Given the description of an element on the screen output the (x, y) to click on. 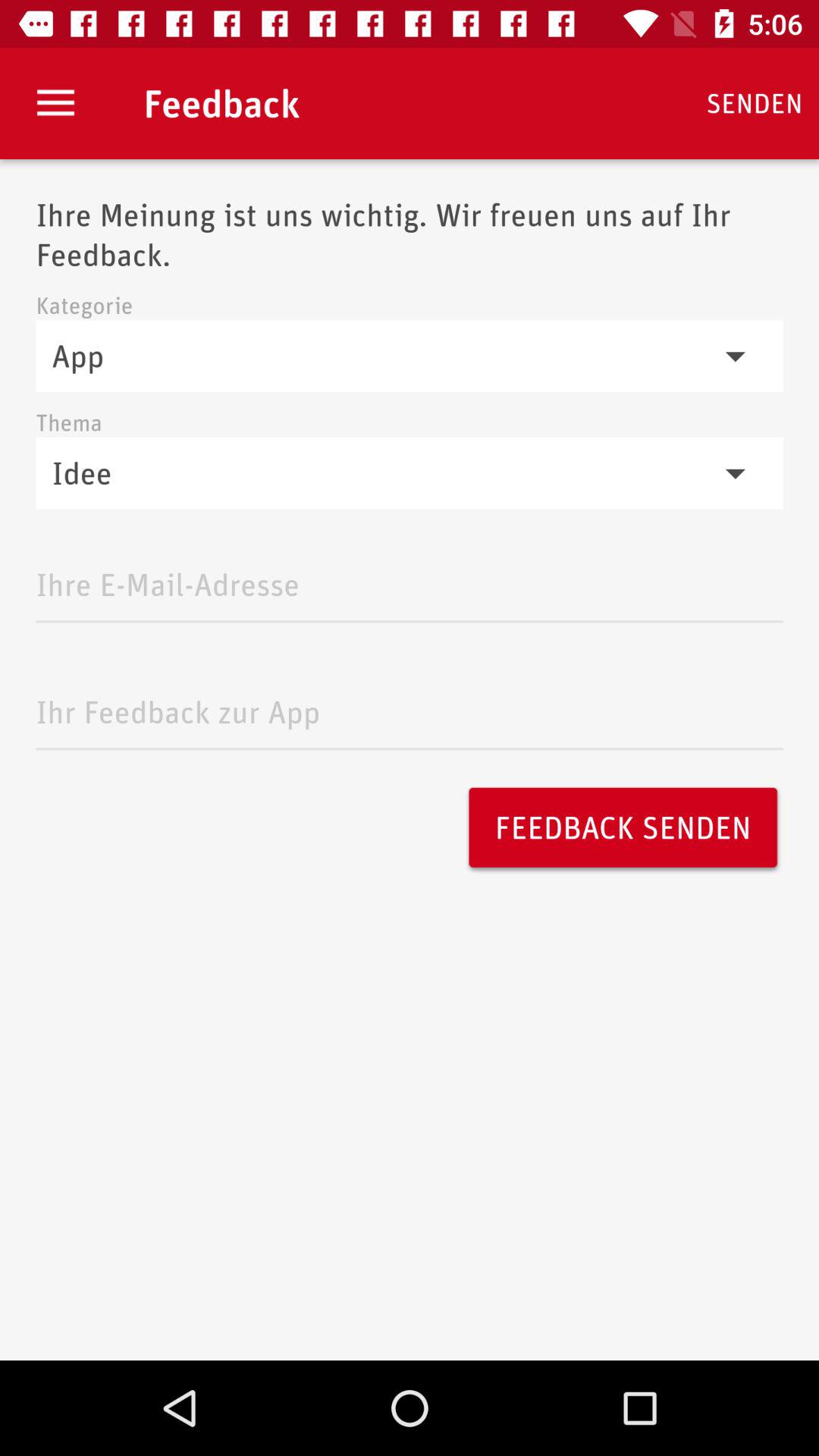
tap feedback senden icon (622, 827)
